Given the description of an element on the screen output the (x, y) to click on. 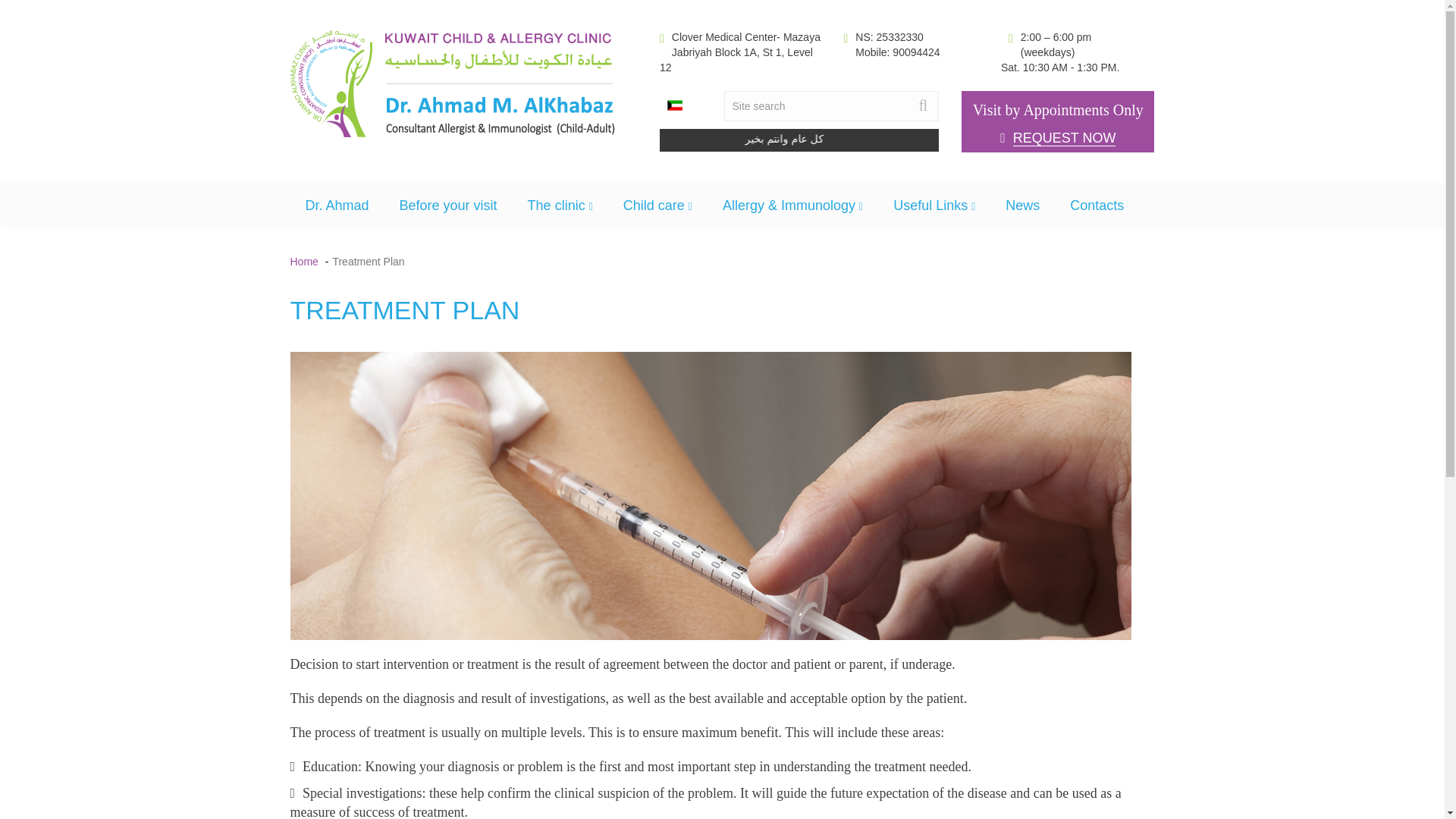
News (1022, 205)
Child care (657, 205)
Before your visit (448, 205)
Contacts (1096, 205)
The clinic (560, 205)
Dr. Ahmad (1057, 121)
Home (336, 205)
Useful Links (303, 261)
